Given the description of an element on the screen output the (x, y) to click on. 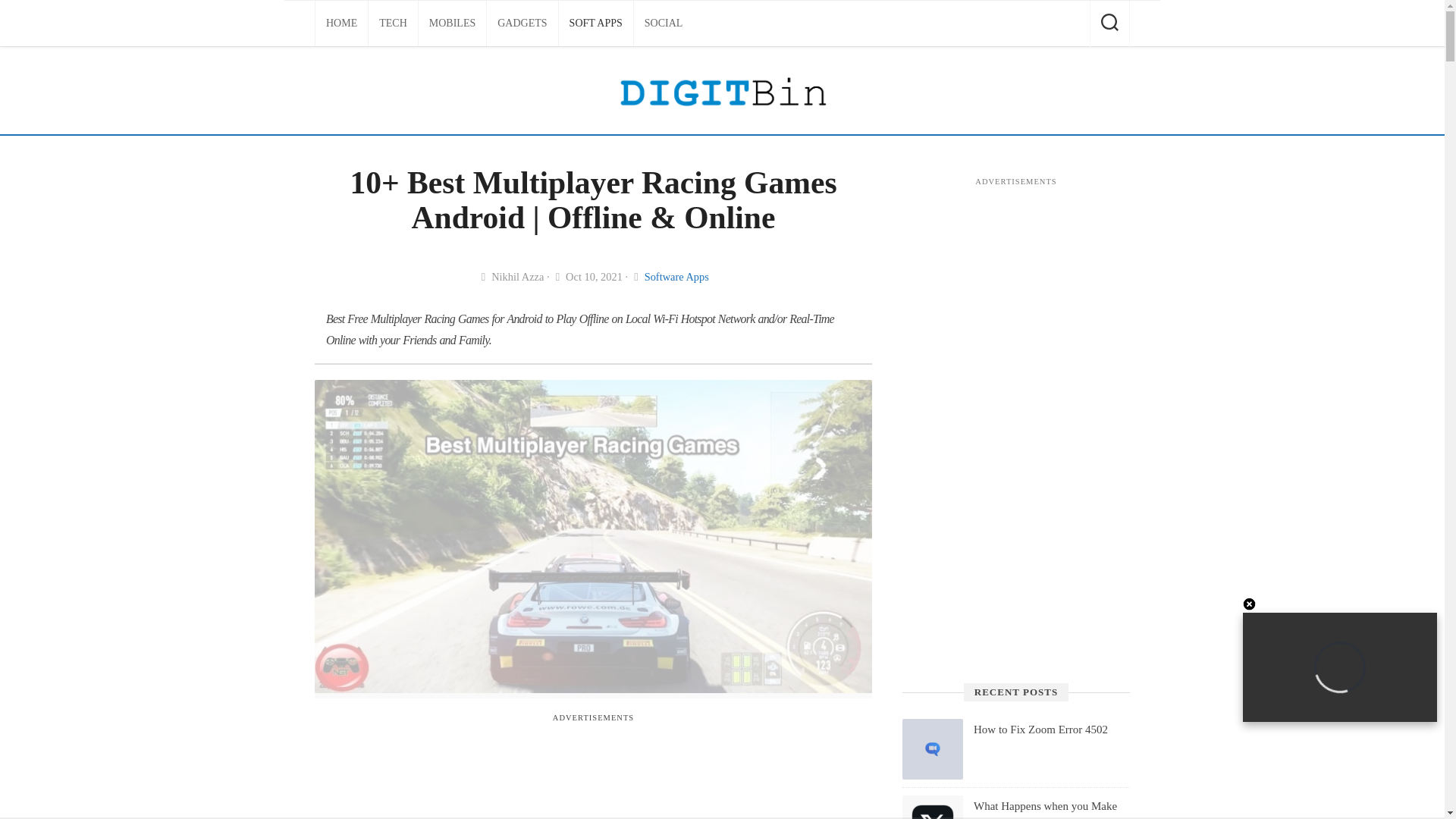
SOFT APPS (596, 23)
Advertisement (592, 767)
TECH (392, 23)
HOME (341, 23)
GADGETS (522, 23)
Software Apps (677, 276)
MOBILES (452, 23)
SOCIAL (663, 23)
